Given the description of an element on the screen output the (x, y) to click on. 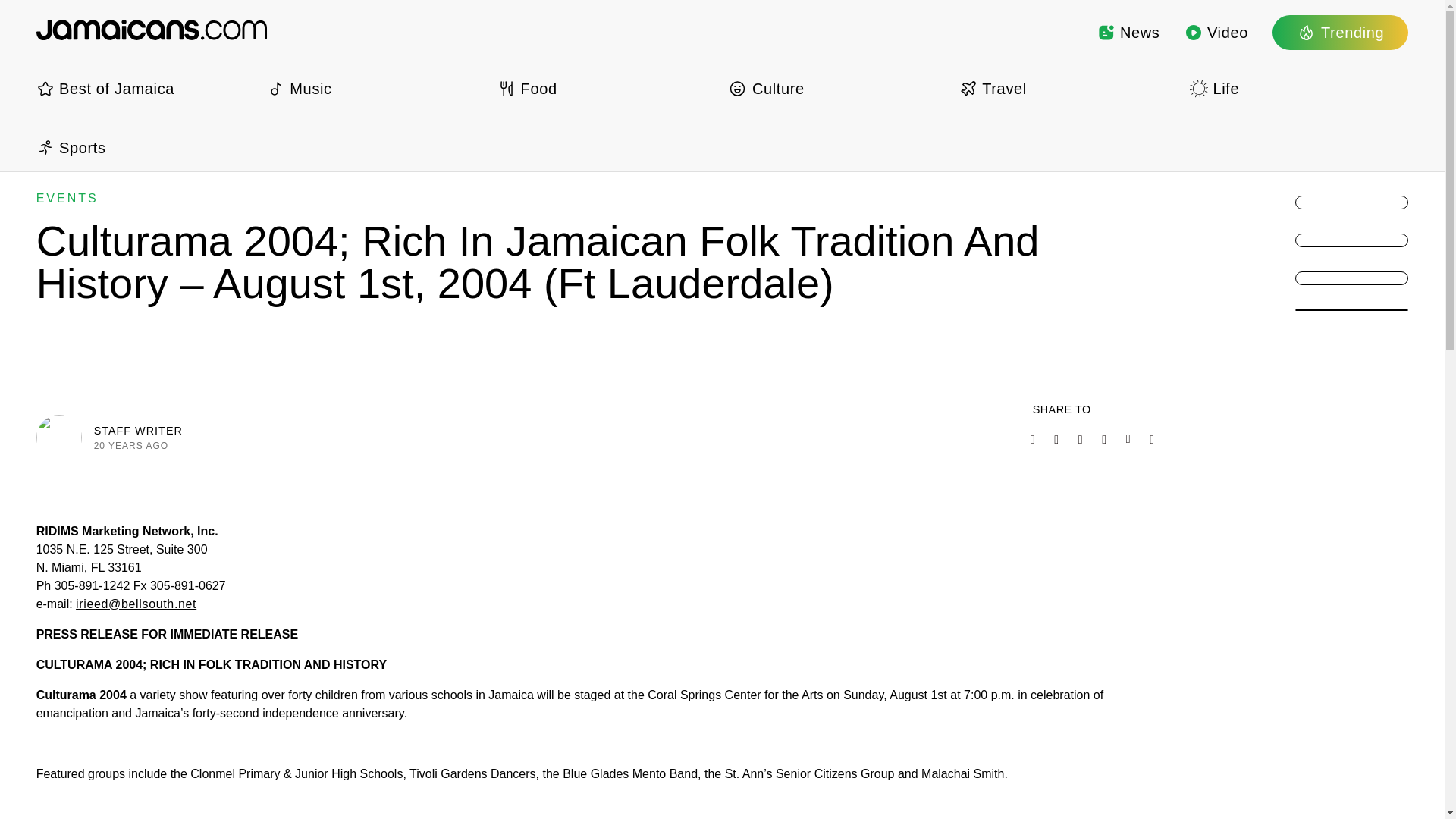
Trending (1339, 32)
Music (375, 88)
Best of Jamaica (145, 88)
EVENTS (67, 197)
Sports (145, 147)
Travel (1068, 88)
Food (606, 88)
Culture (837, 88)
News (1128, 32)
Video (1216, 32)
Life (1298, 88)
